Given the description of an element on the screen output the (x, y) to click on. 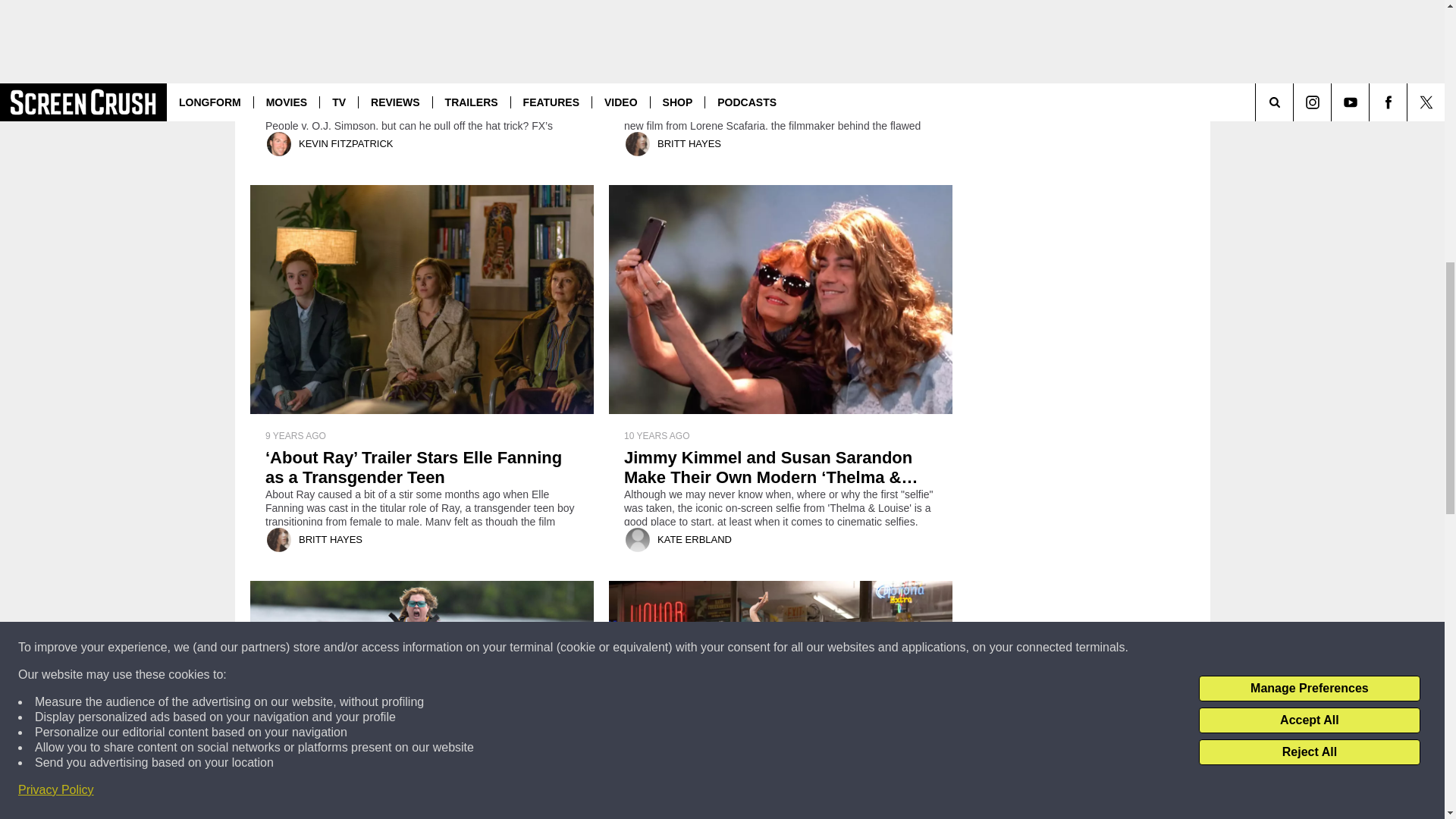
Ryan Murphy Sets FX 'Feud' for Jessica Lange, Susan Sarandon (421, 71)
BRITT HAYES (688, 143)
Kevin Fitzpatrick (278, 143)
KEVIN FITZPATRICK (345, 143)
Britt Hayes (636, 143)
